Given the description of an element on the screen output the (x, y) to click on. 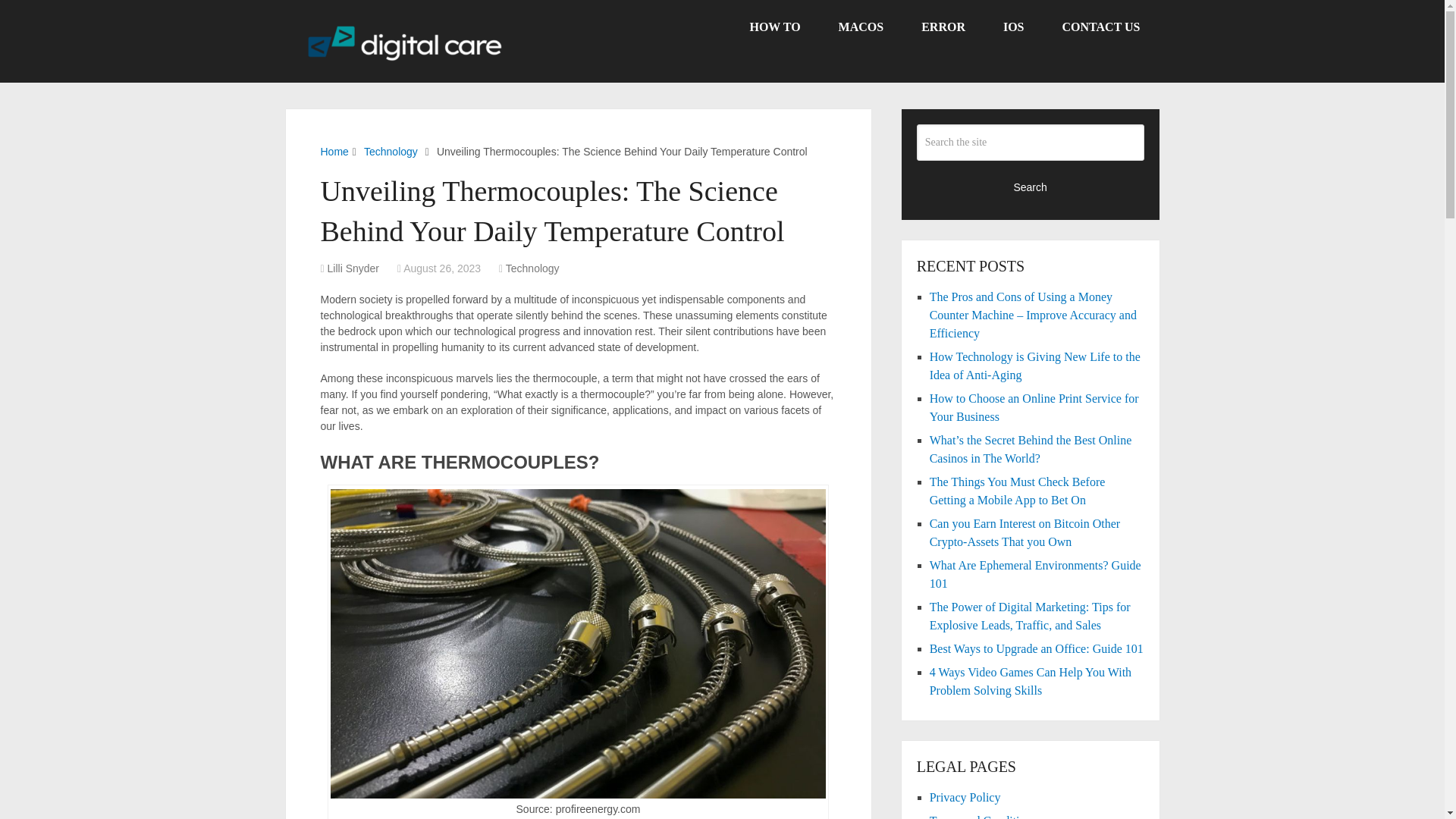
Technology (532, 268)
Privacy Policy (965, 797)
4 Ways Video Games Can Help You With Problem Solving Skills (1030, 680)
Lilli Snyder (352, 268)
IOS (1013, 27)
MACOS (860, 27)
ERROR (943, 27)
How to Choose an Online Print Service for Your Business (1034, 407)
View all posts in Technology (532, 268)
Home (333, 151)
Search (1030, 186)
Technology (390, 151)
HOW TO (774, 27)
